Given the description of an element on the screen output the (x, y) to click on. 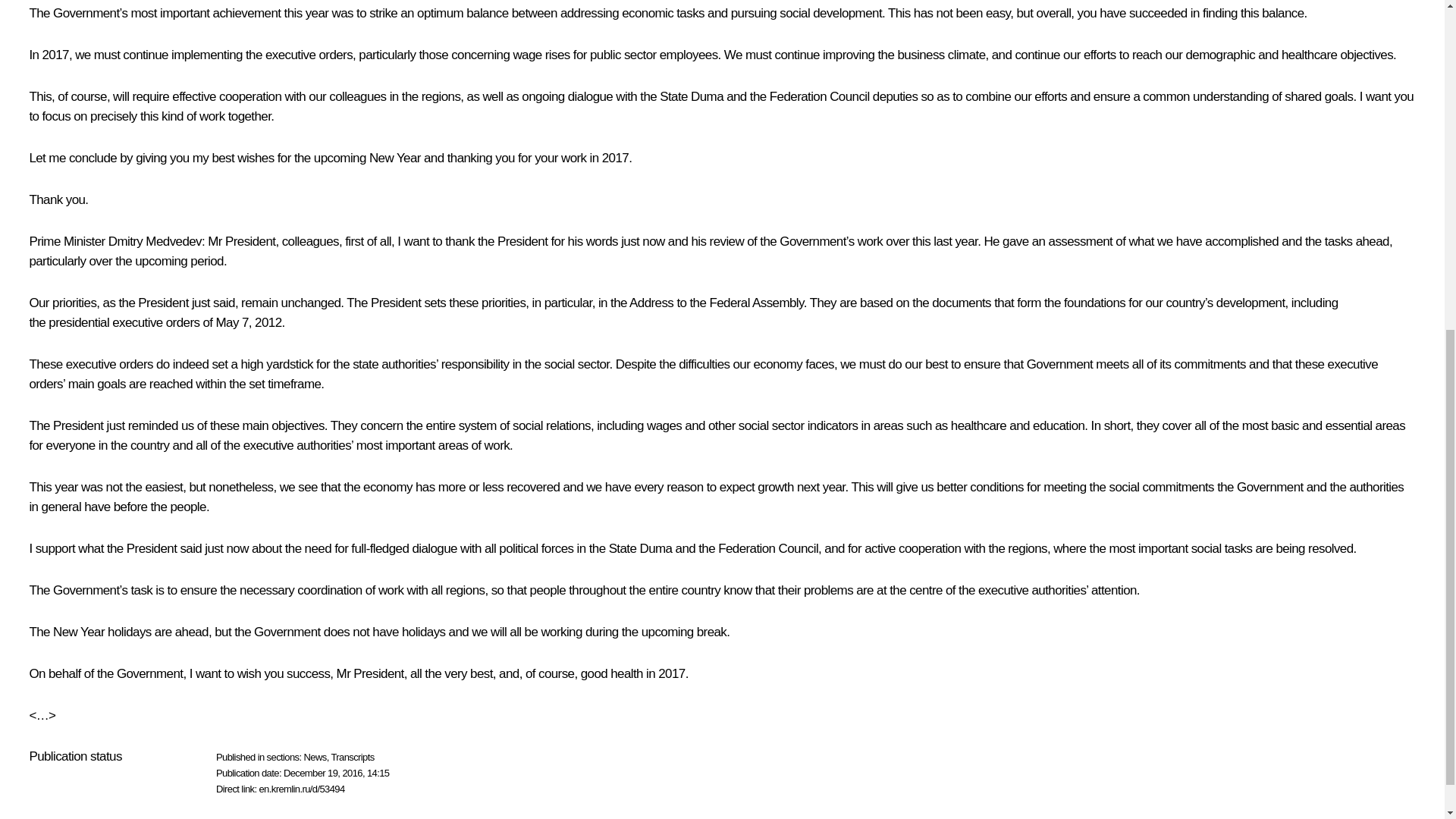
Dmitry Medvedev (154, 241)
